Given the description of an element on the screen output the (x, y) to click on. 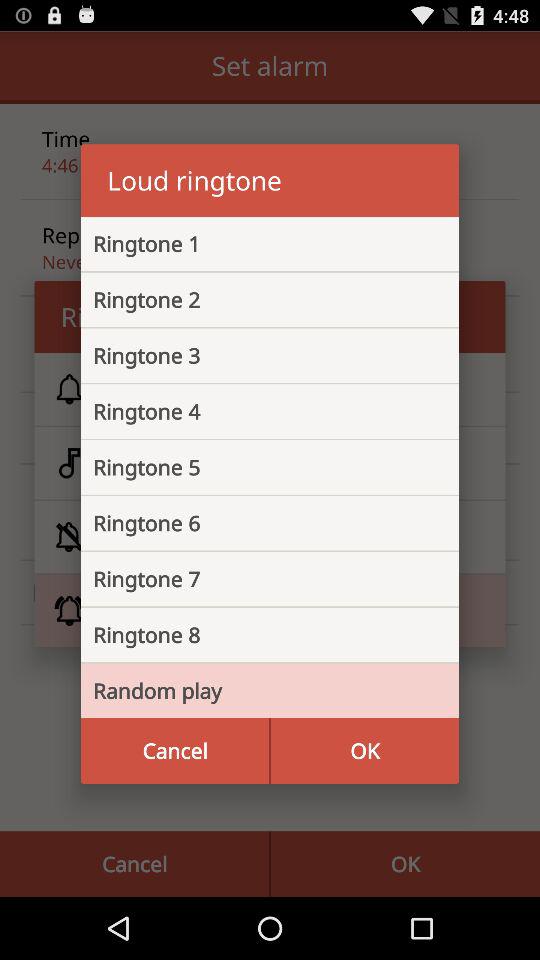
jump until ringtone 7 (254, 579)
